Given the description of an element on the screen output the (x, y) to click on. 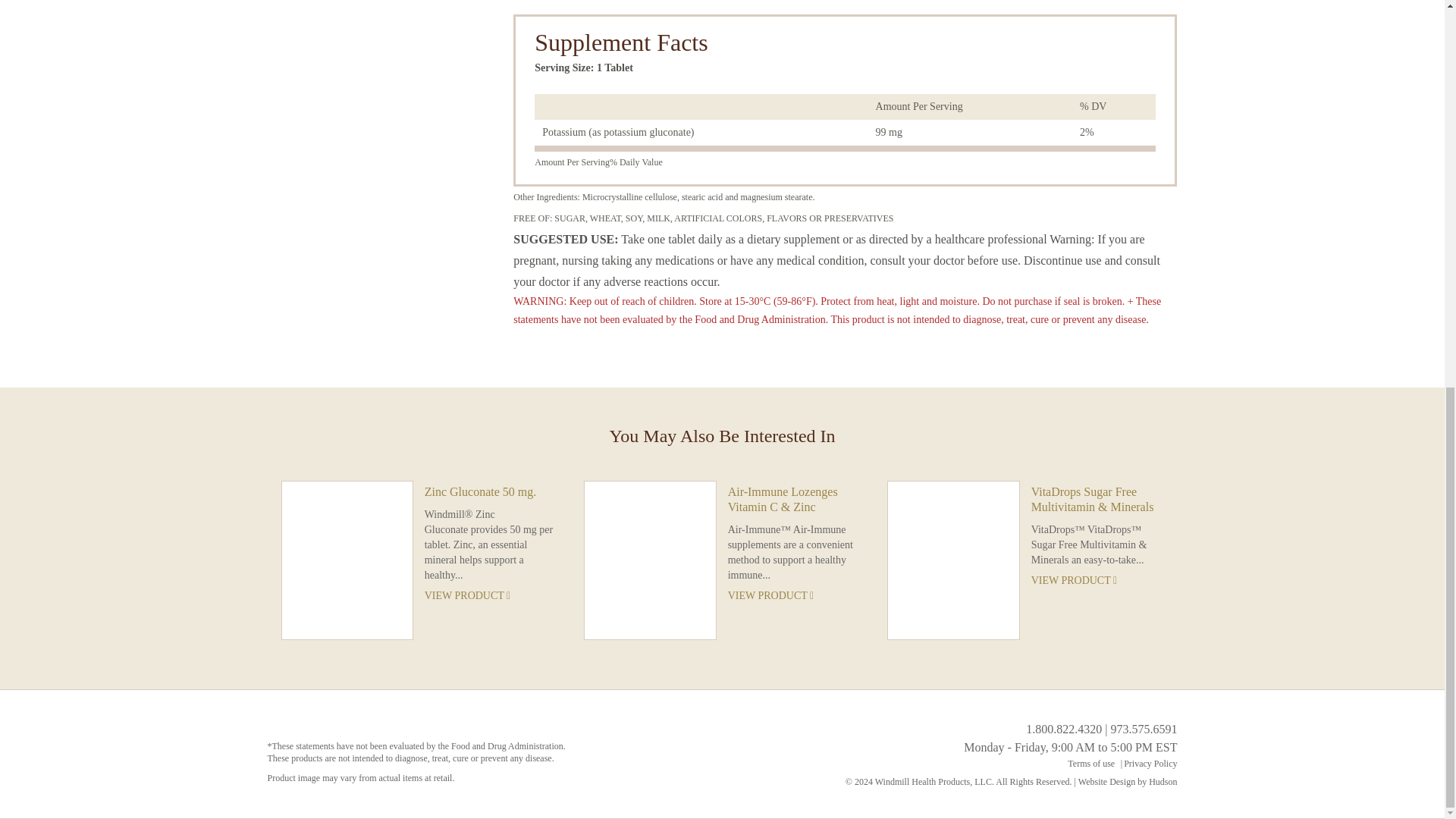
Hudson (1162, 781)
Zinc Gluconate 50 mg. (491, 491)
Privacy Policy (1150, 763)
VIEW PRODUCT (1096, 580)
Terms of use (1091, 763)
VIEW PRODUCT (491, 595)
VIEW PRODUCT (794, 595)
